Given the description of an element on the screen output the (x, y) to click on. 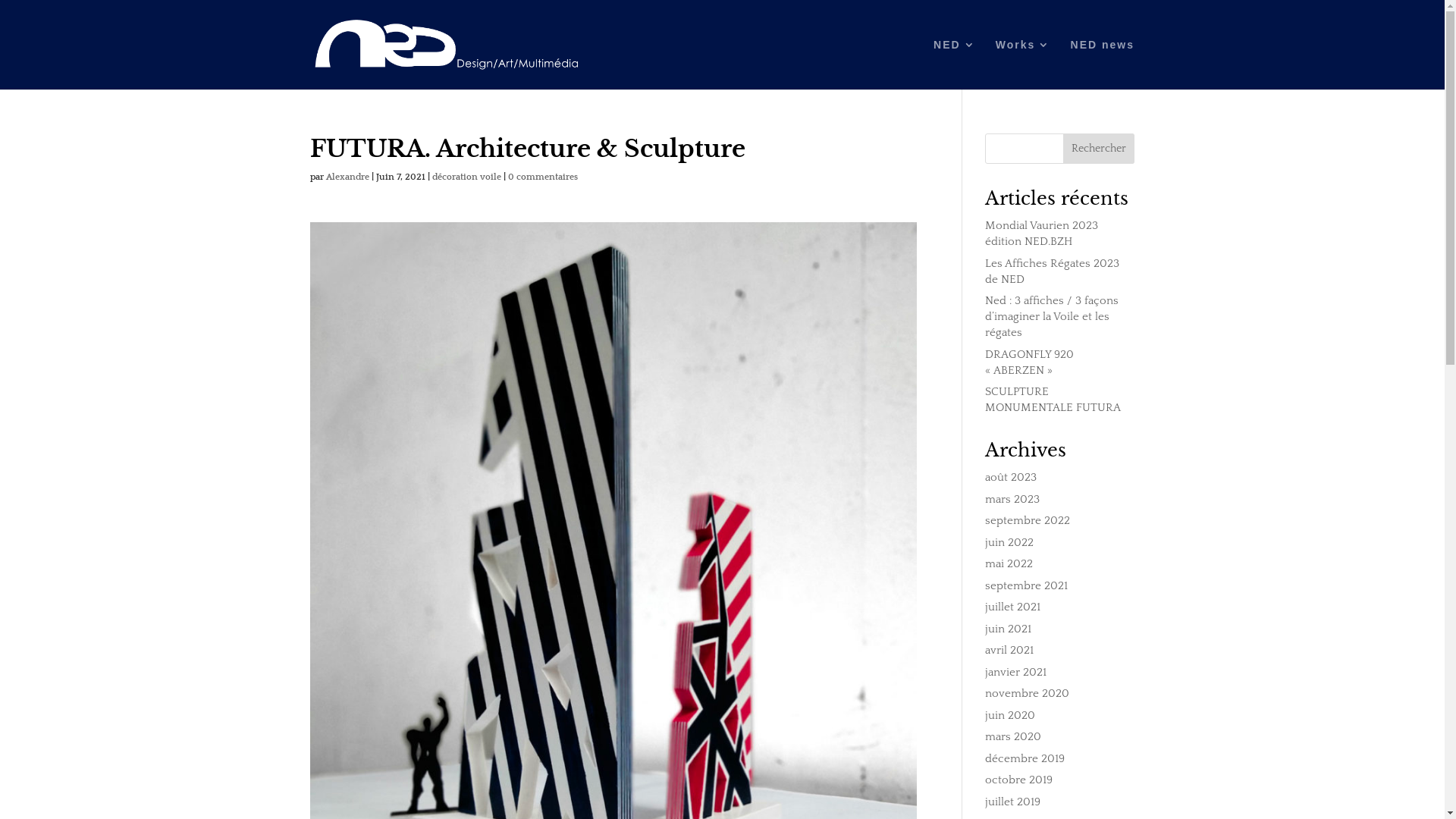
avril 2021 Element type: text (1009, 649)
juin 2020 Element type: text (1010, 715)
Works Element type: text (1023, 64)
juillet 2021 Element type: text (1012, 606)
septembre 2022 Element type: text (1027, 520)
octobre 2019 Element type: text (1018, 779)
mars 2020 Element type: text (1013, 736)
novembre 2020 Element type: text (1027, 693)
NED news Element type: text (1102, 64)
janvier 2021 Element type: text (1015, 671)
mai 2022 Element type: text (1008, 563)
mars 2023 Element type: text (1012, 498)
septembre 2021 Element type: text (1026, 585)
Alexandre Element type: text (347, 177)
juillet 2019 Element type: text (1012, 801)
NED Element type: text (954, 64)
Rechercher Element type: text (1098, 148)
0 commentaires Element type: text (542, 177)
juin 2021 Element type: text (1008, 628)
SCULPTURE MONUMENTALE FUTURA Element type: text (1052, 399)
juin 2022 Element type: text (1009, 542)
